Given the description of an element on the screen output the (x, y) to click on. 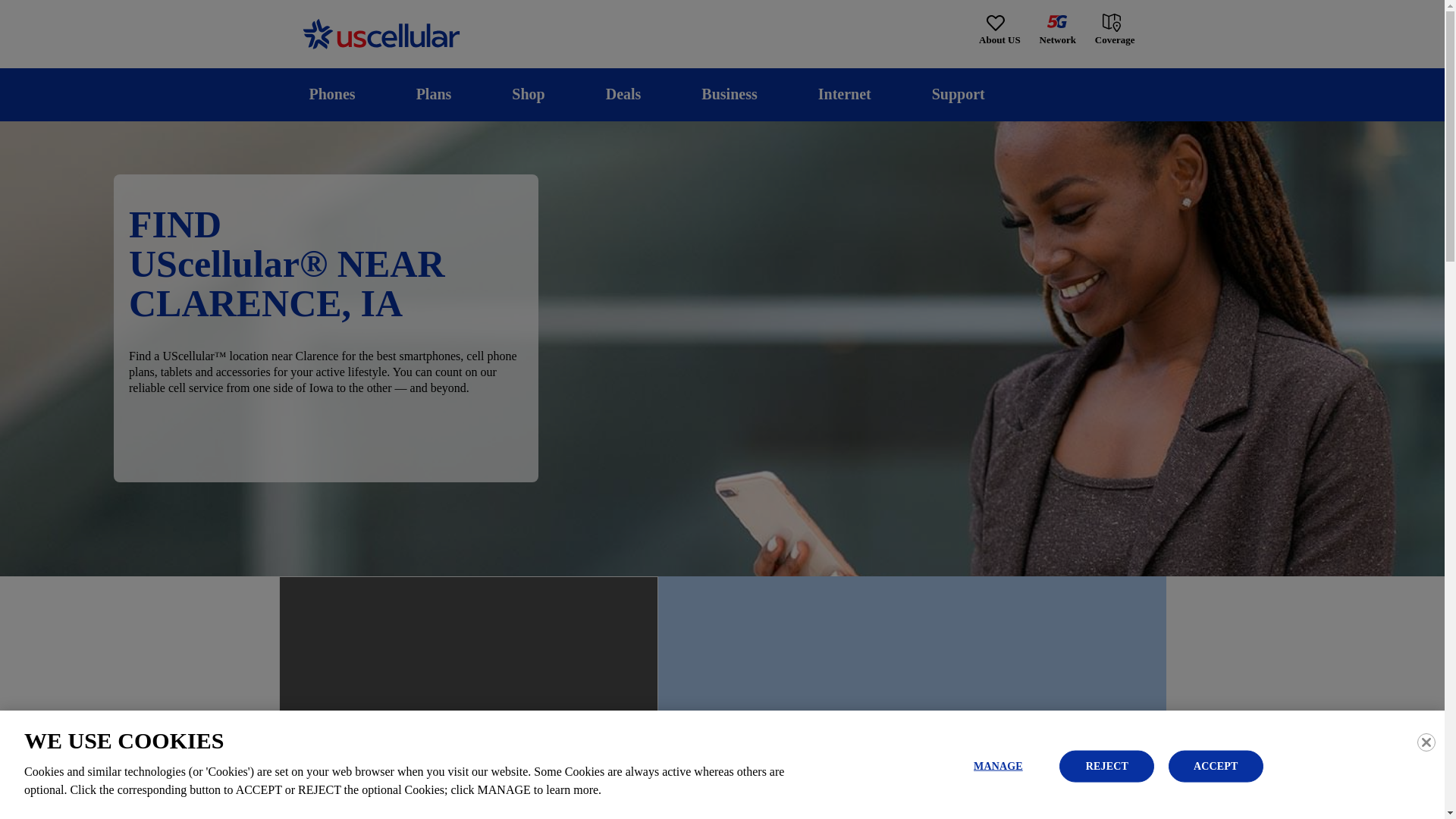
Internet (844, 94)
Deals (623, 94)
Support (957, 94)
About US (999, 30)
Business (729, 94)
Network (1057, 30)
Shop (528, 94)
Coverage (1115, 29)
Phones (332, 94)
Plans (433, 94)
